Given the description of an element on the screen output the (x, y) to click on. 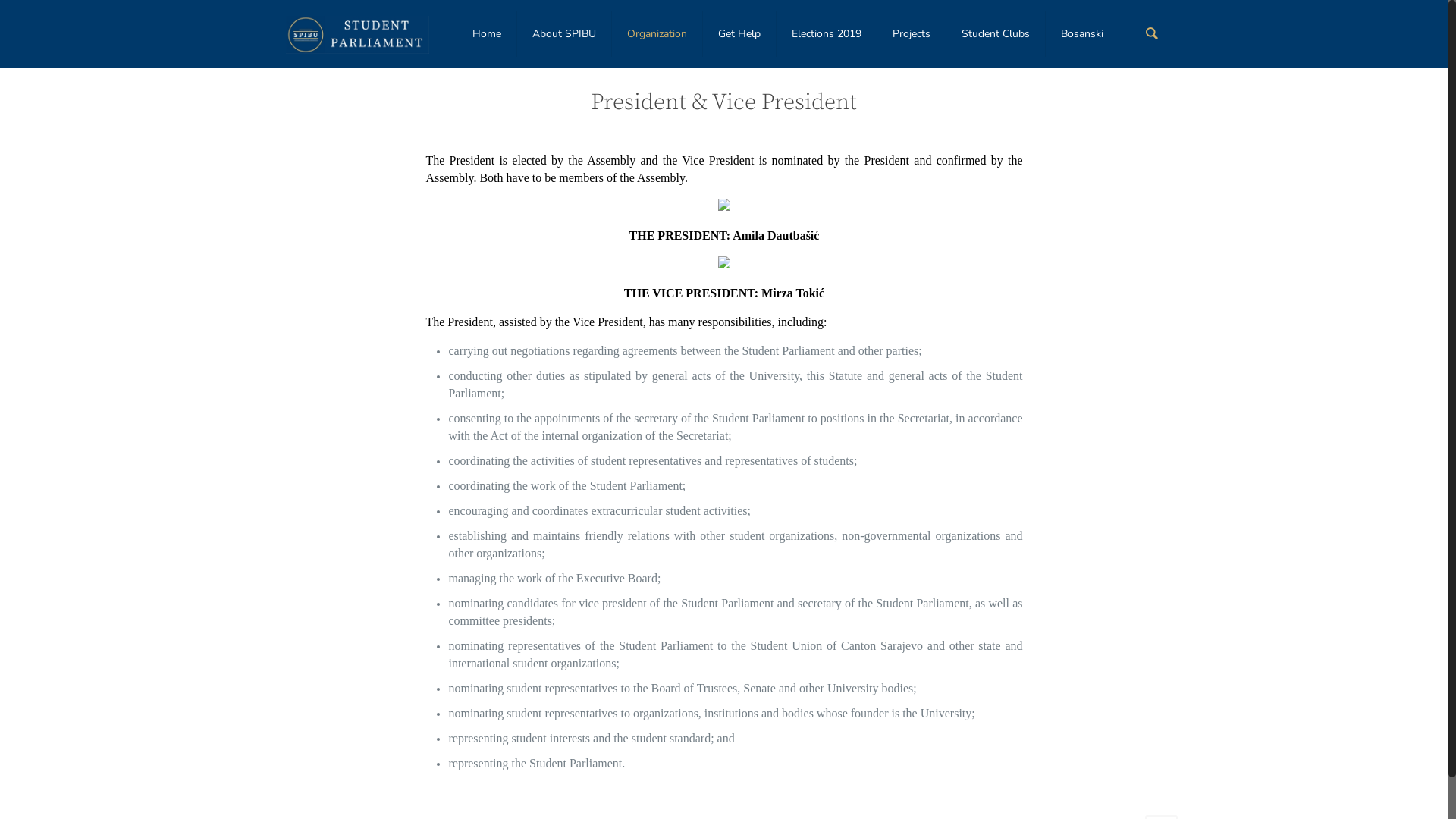
Home Element type: text (487, 34)
Student Parliament of the International Burch University Element type: hover (356, 30)
About SPIBU Element type: text (564, 34)
Student Clubs Element type: text (995, 34)
Elections 2019 Element type: text (826, 34)
Organization Element type: text (656, 34)
Projects Element type: text (911, 34)
Get Help Element type: text (739, 34)
Bosanski Element type: text (1081, 34)
